Given the description of an element on the screen output the (x, y) to click on. 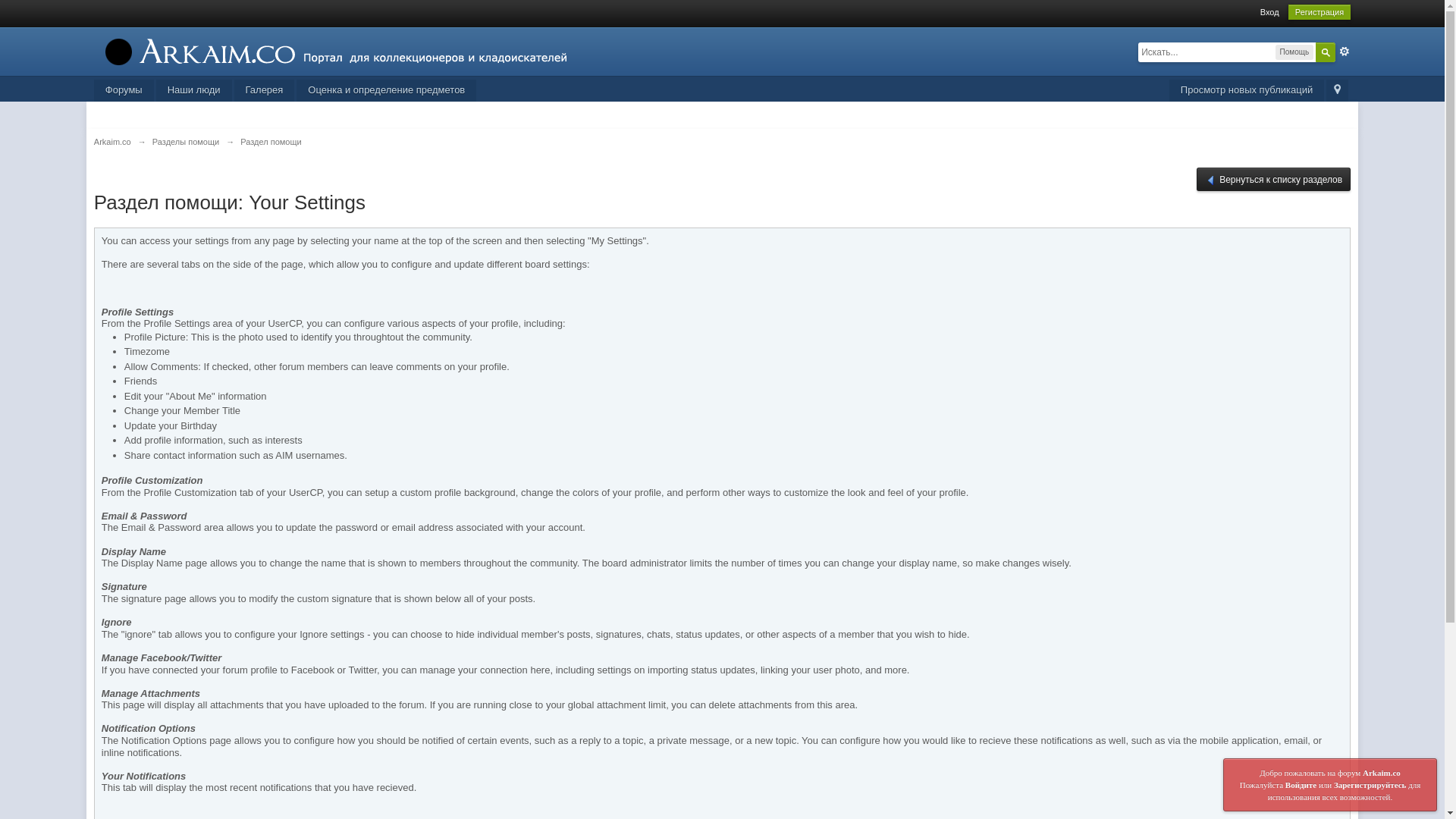
Arkaim.co (112, 141)
